Given the description of an element on the screen output the (x, y) to click on. 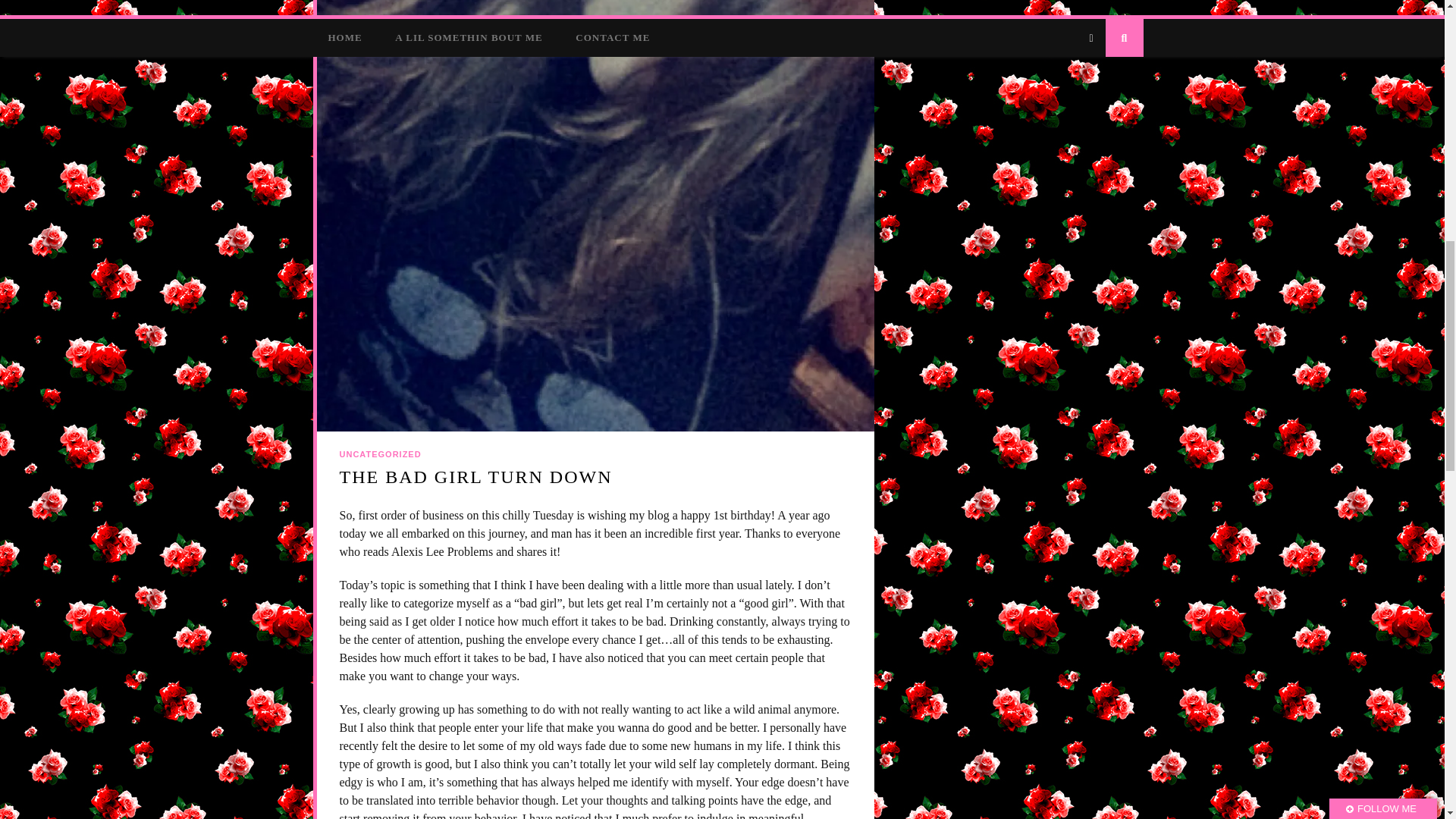
UNCATEGORIZED (380, 454)
Subscribe (1349, 163)
Enter email address (1348, 112)
wpfruits (1373, 192)
Subscribe (1349, 163)
WPFruits.com (1373, 192)
